Given the description of an element on the screen output the (x, y) to click on. 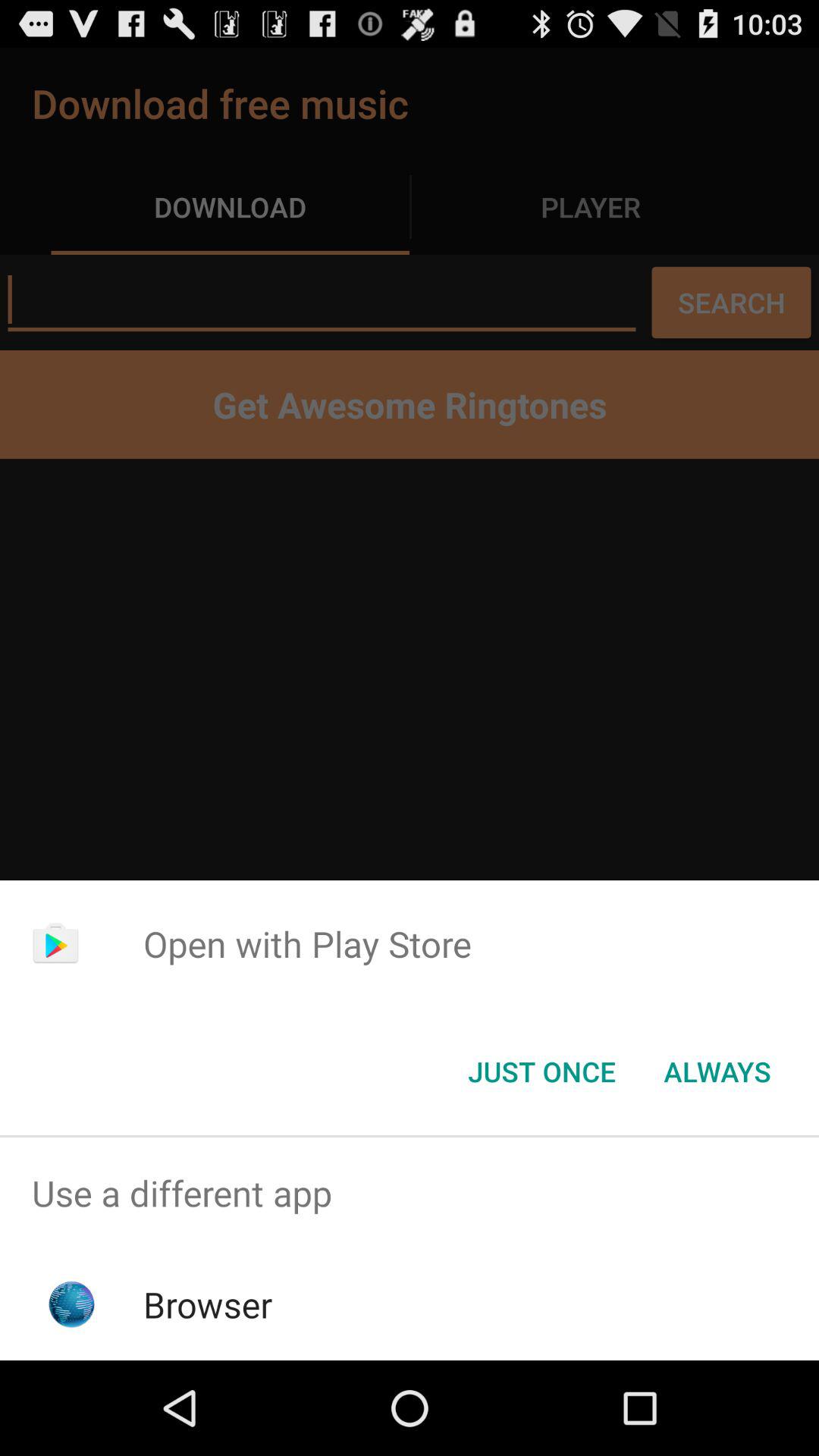
open the item at the bottom right corner (717, 1071)
